Given the description of an element on the screen output the (x, y) to click on. 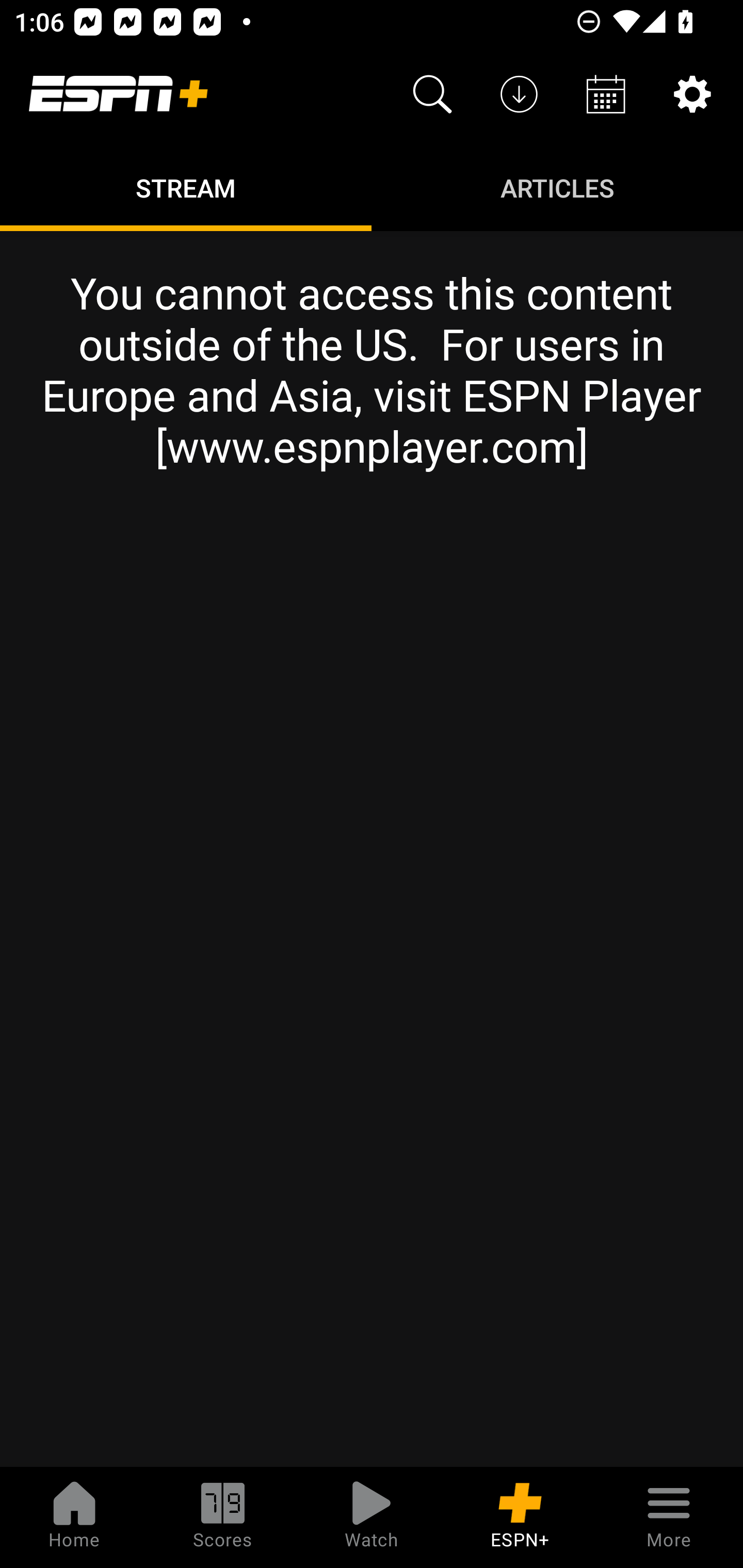
Search (432, 93)
Downloads (518, 93)
Schedule (605, 93)
Settings (692, 93)
Articles ARTICLES (557, 187)
Home (74, 1517)
Scores (222, 1517)
Watch (371, 1517)
More (668, 1517)
